Given the description of an element on the screen output the (x, y) to click on. 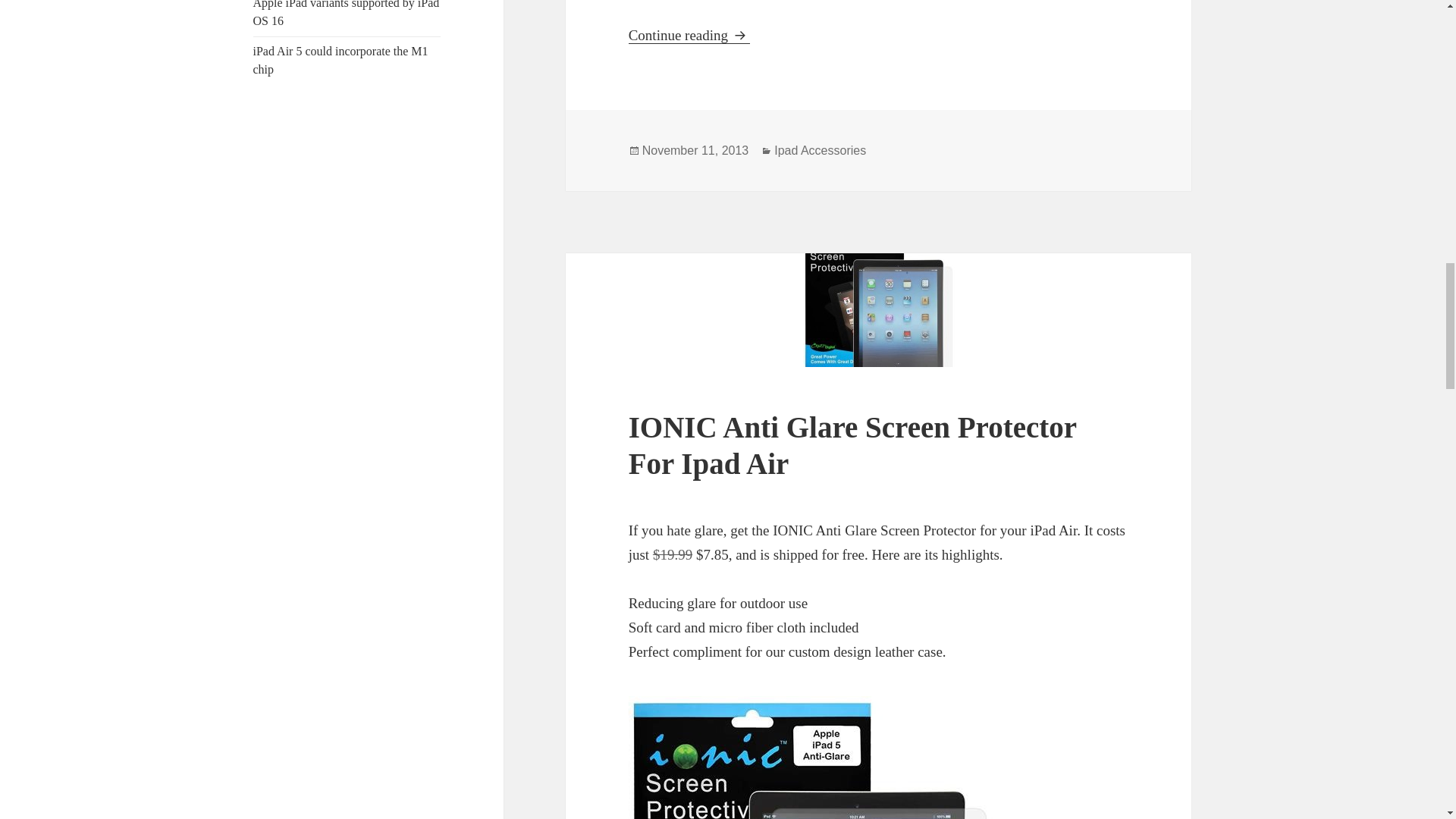
iPad Air 5 could incorporate the M1 chip (688, 35)
Ipad Accessories (340, 60)
November 11, 2013 (820, 151)
IONIC Anti Glare Screen Protector For Ipad Air (695, 151)
Apple iPad variants supported by iPad OS 16 (852, 445)
IONIC Anti Glare Screen Protector For Ipad Air (346, 13)
